Given the description of an element on the screen output the (x, y) to click on. 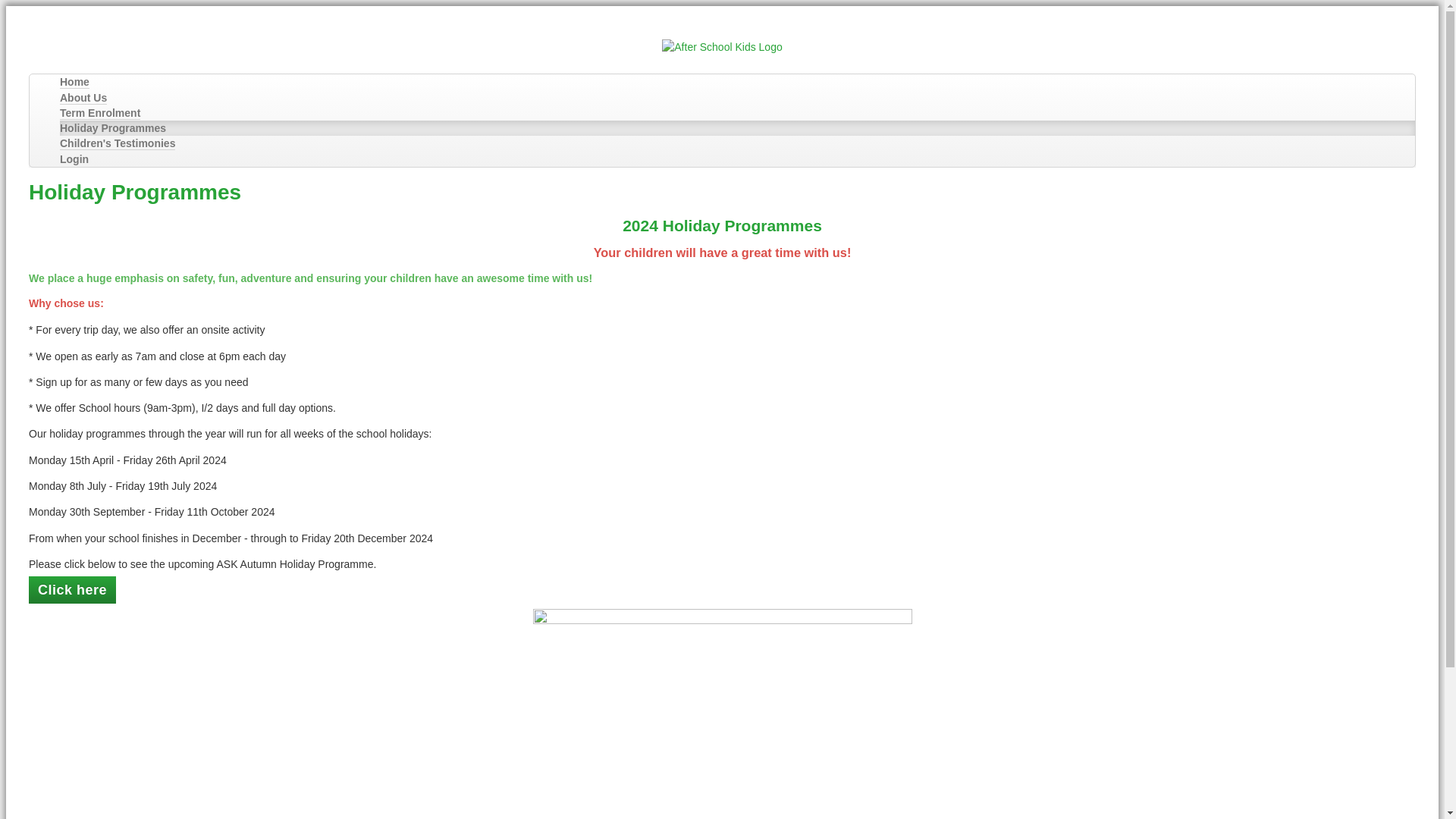
Holiday Programmes (112, 128)
Click here (72, 589)
Term Enrolment (99, 113)
Home (73, 82)
Login (73, 159)
Children's Testimonies (116, 143)
About Us (82, 97)
